Given the description of an element on the screen output the (x, y) to click on. 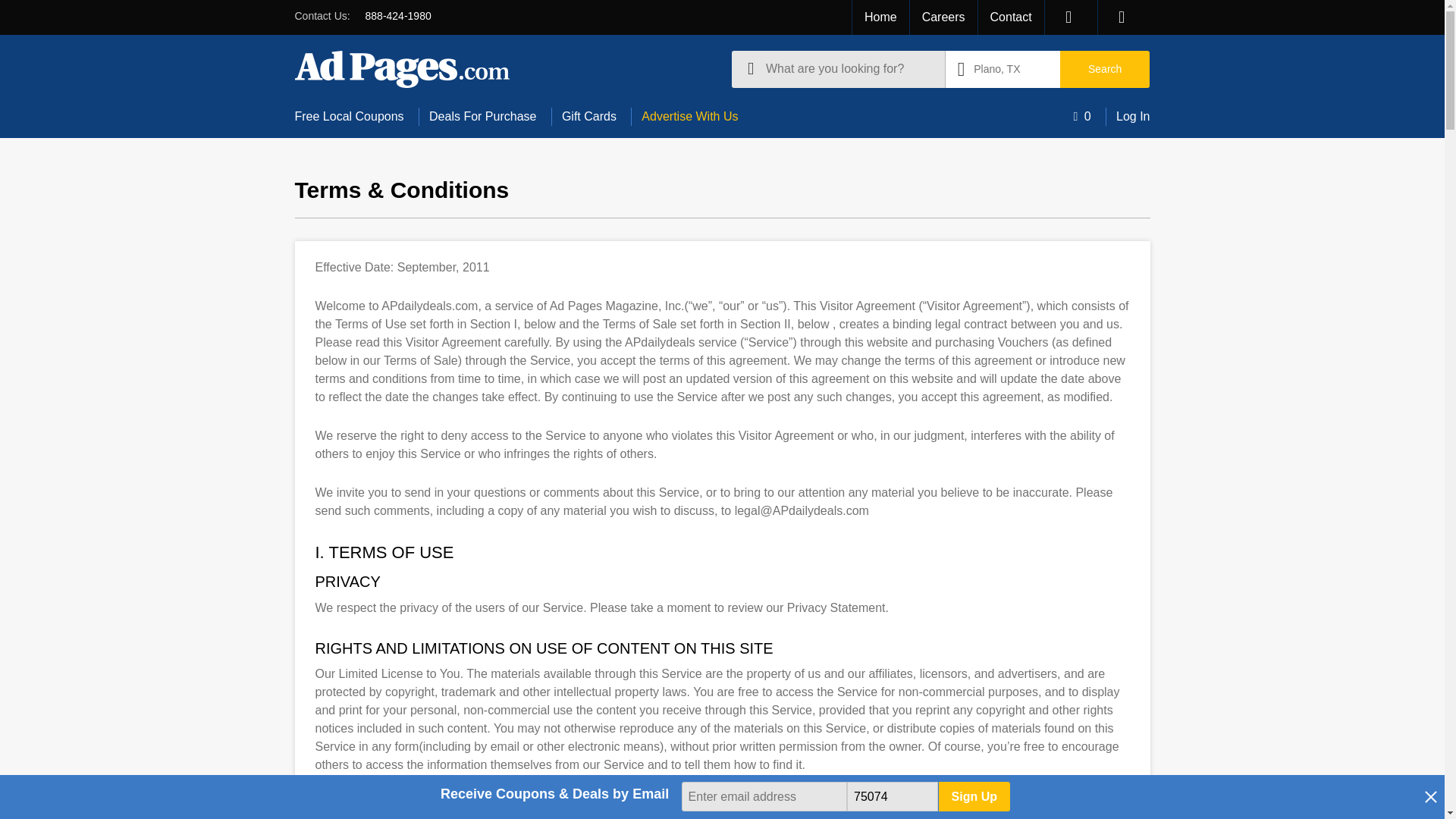
Search (1104, 68)
Free Local Coupons (354, 116)
Gift Cards (589, 116)
Contact (1010, 17)
Advertise With Us (689, 116)
Log In (1127, 116)
Home (879, 17)
Deals For Purchase (483, 116)
Sign Up (974, 796)
Careers (943, 17)
Search (1104, 68)
Go (864, 420)
Sign Up (974, 796)
Plano, TX (1001, 68)
